Given the description of an element on the screen output the (x, y) to click on. 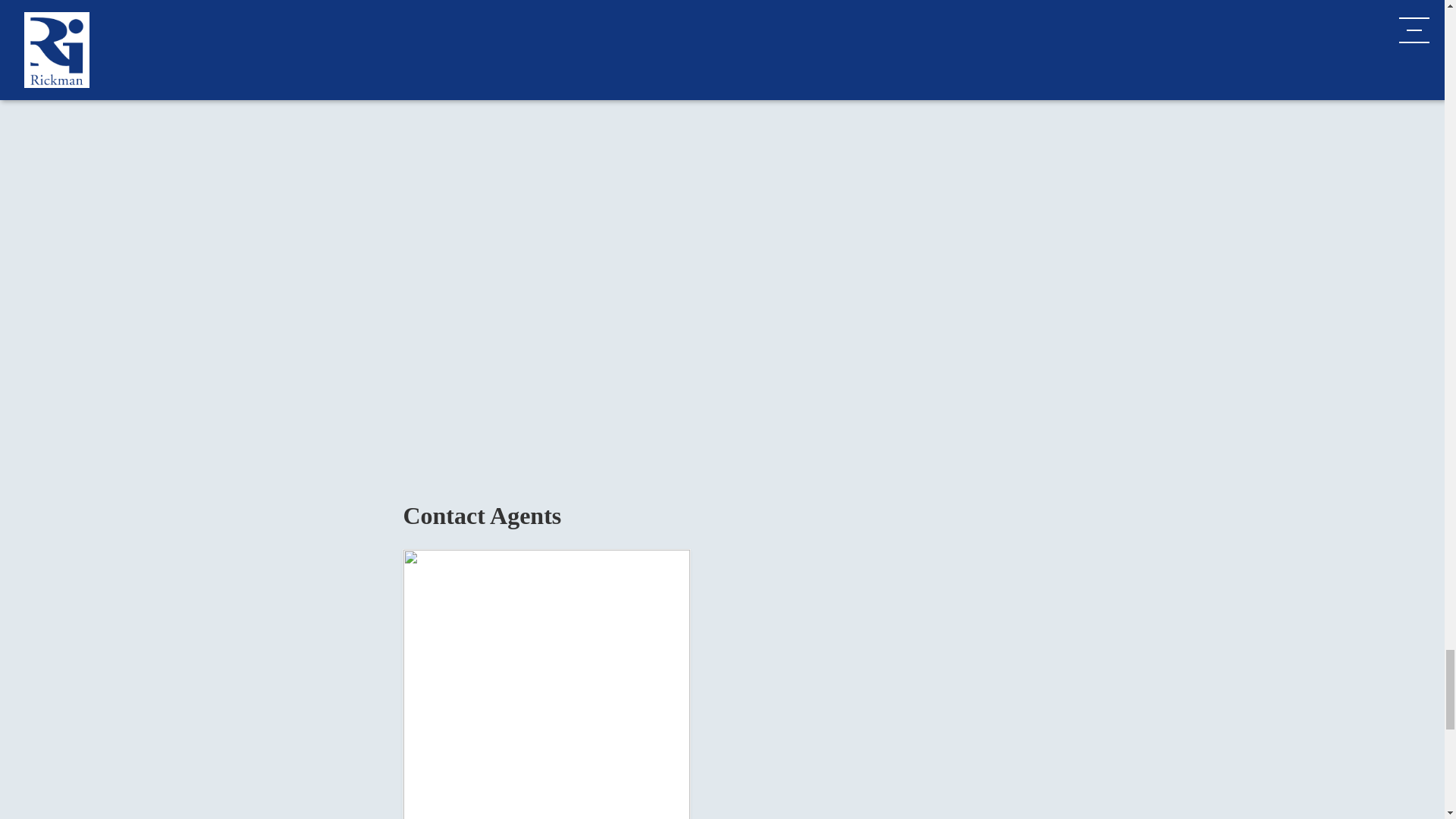
Stuart Mills (546, 684)
